Given the description of an element on the screen output the (x, y) to click on. 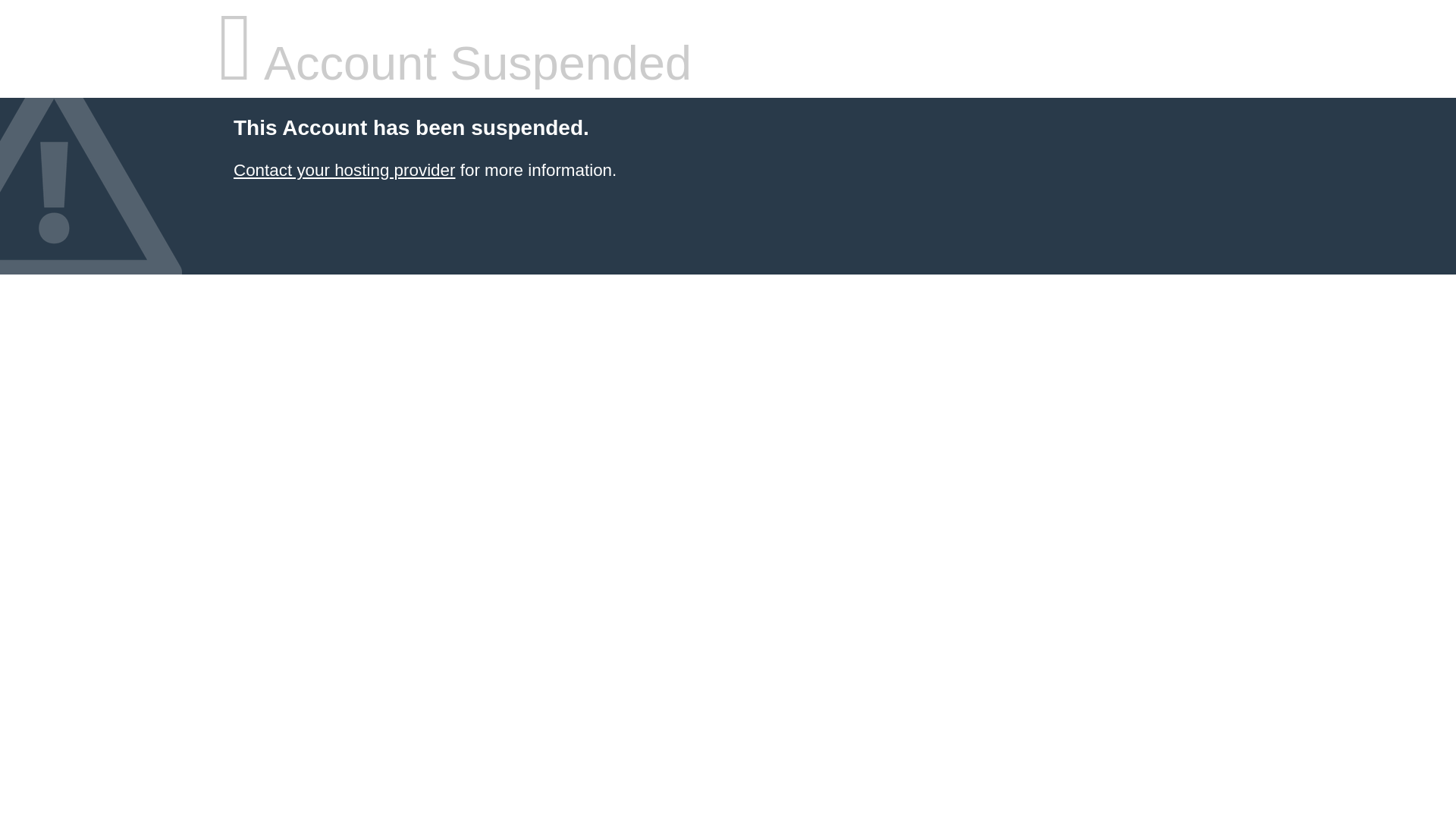
Contact your hosting provider (343, 169)
